Given the description of an element on the screen output the (x, y) to click on. 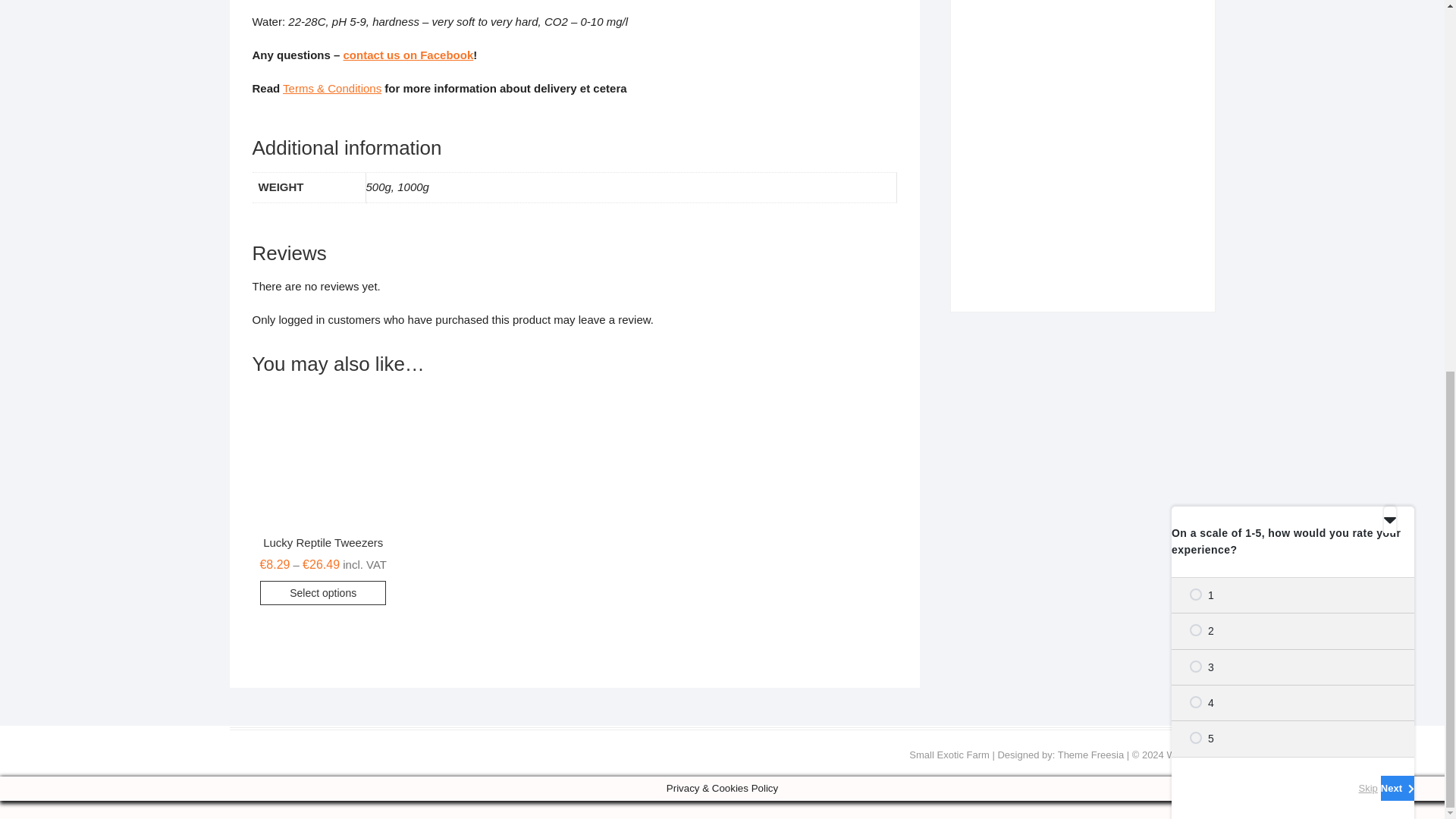
contact us on Facebook (408, 54)
Theme Freesia (1091, 754)
WordPress (1190, 754)
Go to top (1398, 96)
Small Exotic Farm (948, 754)
Small Exotic Farm (948, 754)
WordPress (1190, 754)
Theme Freesia (1091, 754)
Select options (322, 592)
